Given the description of an element on the screen output the (x, y) to click on. 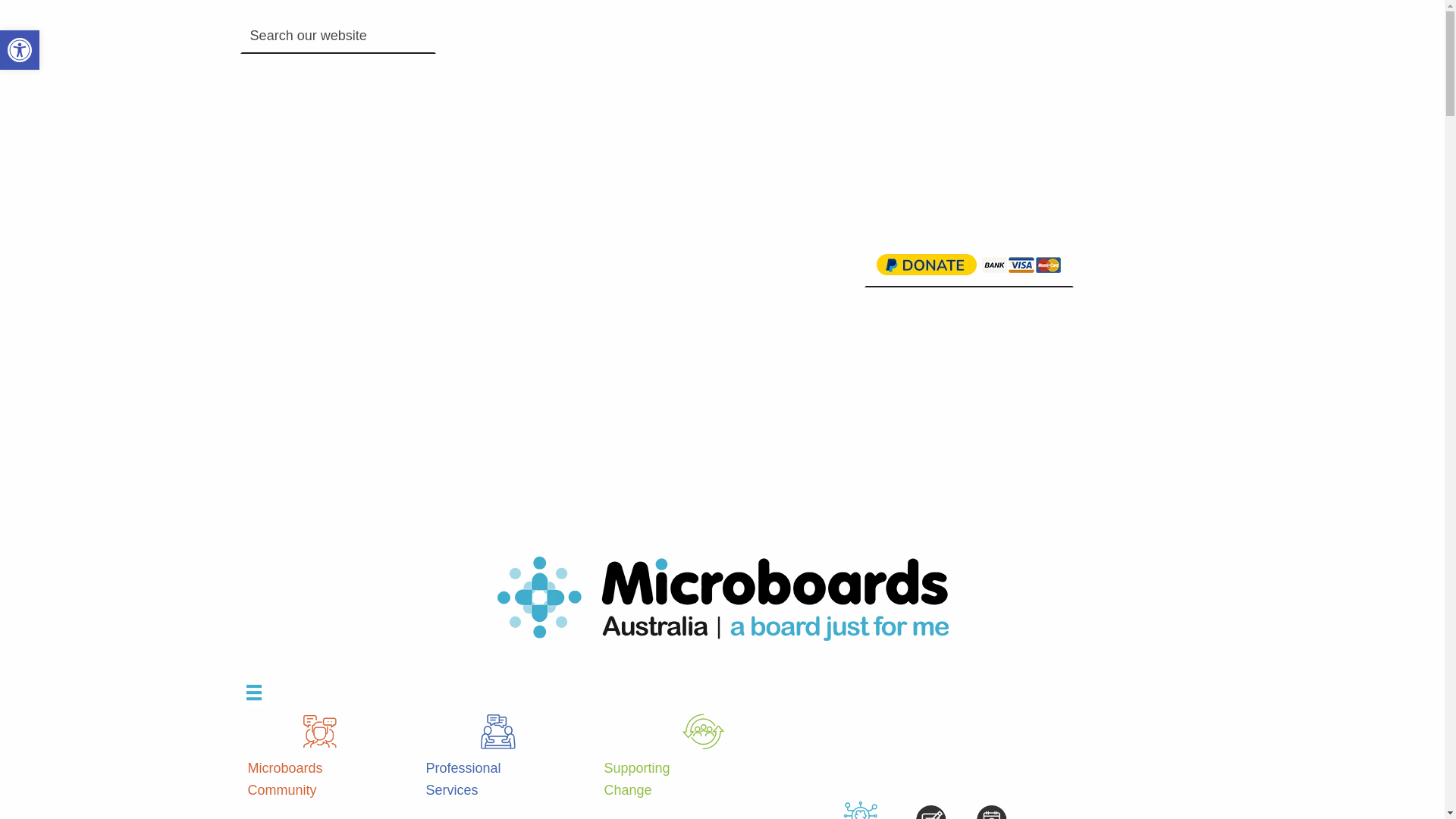
Supporting
Change Element type: text (707, 758)
Professional
Services Element type: text (501, 758)
Microboards
Community Element type: text (322, 758)
Open toolbar
Accessibility Tools Element type: text (19, 49)
PayPal - The safer, easier way to pay online! Element type: hover (968, 264)
